Given the description of an element on the screen output the (x, y) to click on. 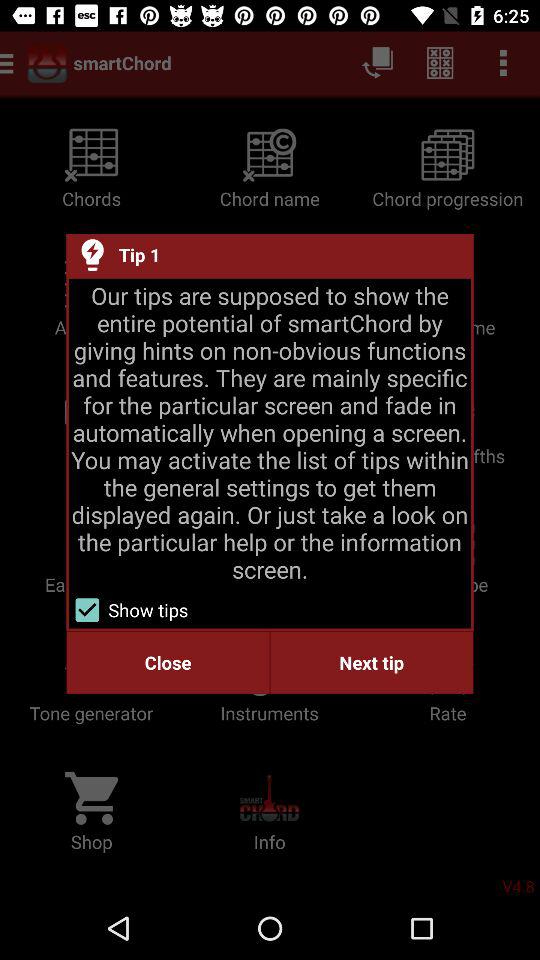
flip to the next tip icon (371, 662)
